Given the description of an element on the screen output the (x, y) to click on. 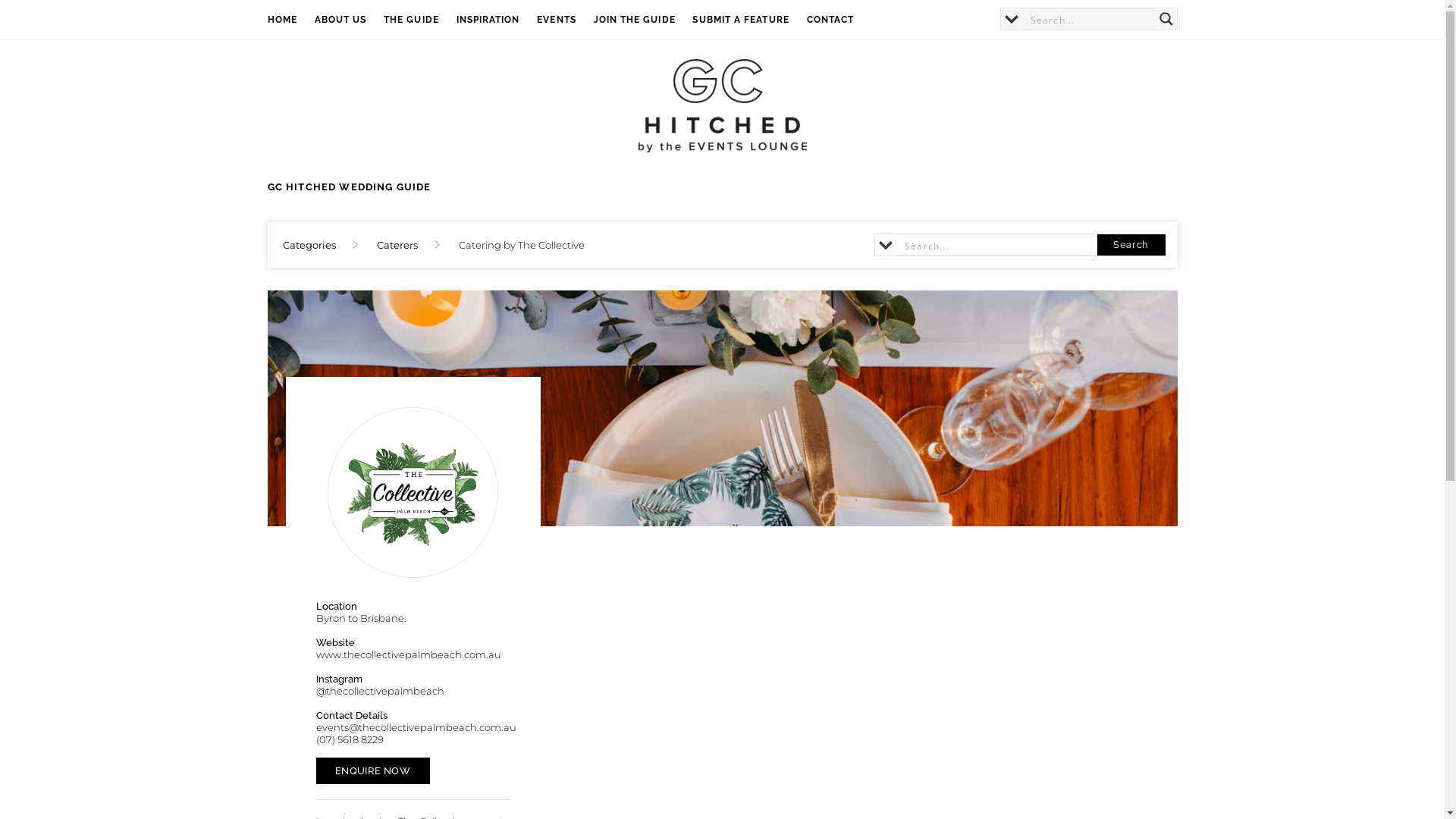
JOIN THE GUIDE Element type: text (643, 20)
INSPIRATION Element type: text (496, 20)
CONTACT Element type: text (838, 20)
ABOUT US Element type: text (348, 20)
ENQUIRE NOW Element type: text (372, 770)
Instagram Element type: hover (986, 22)
Categories Element type: text (308, 244)
events@thecollectivepalmbeach.com.au Element type: text (415, 727)
Pinterest Element type: hover (990, 22)
www.thecollectivepalmbeach.com.au Element type: text (407, 654)
THE GUIDE Element type: text (419, 20)
(07) 5618 8229 Element type: text (348, 739)
SUBMIT A FEATURE Element type: text (749, 20)
EVENTS Element type: text (564, 20)
Caterers Element type: text (396, 244)
Facebook Element type: hover (983, 22)
@thecollectivepalmbeach Element type: text (379, 690)
HOME Element type: text (289, 20)
